Given the description of an element on the screen output the (x, y) to click on. 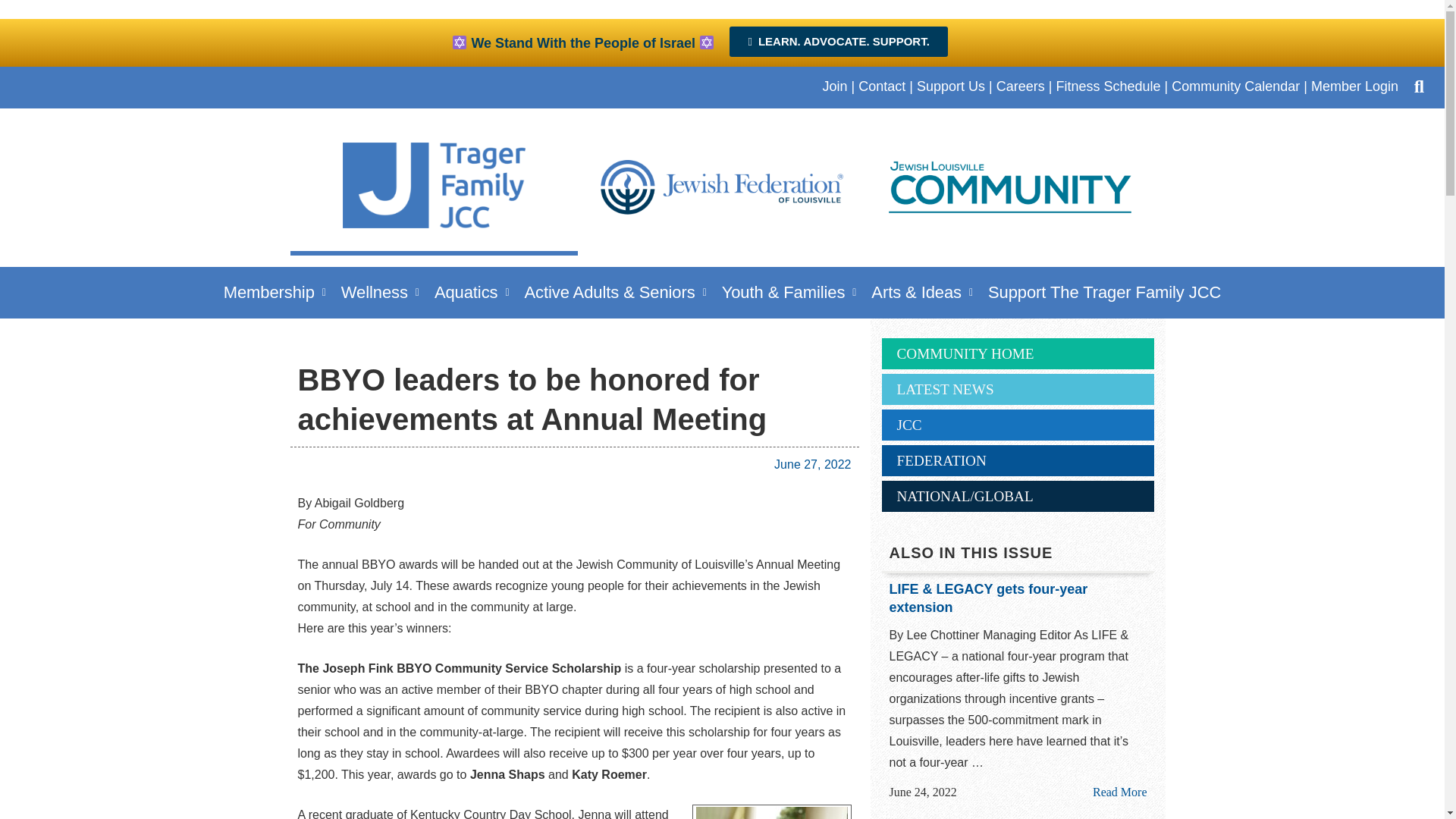
9:53 am (922, 791)
LEARN. ADVOCATE. SUPPORT. (838, 41)
Fitness Schedule (1107, 86)
Join (834, 86)
Wellness (379, 292)
10:45 am (812, 464)
Community Calendar (1236, 86)
Aquatics (471, 292)
Contact (882, 86)
Member Login (1354, 86)
Support Us (951, 86)
Membership (274, 292)
Careers (1020, 86)
